Given the description of an element on the screen output the (x, y) to click on. 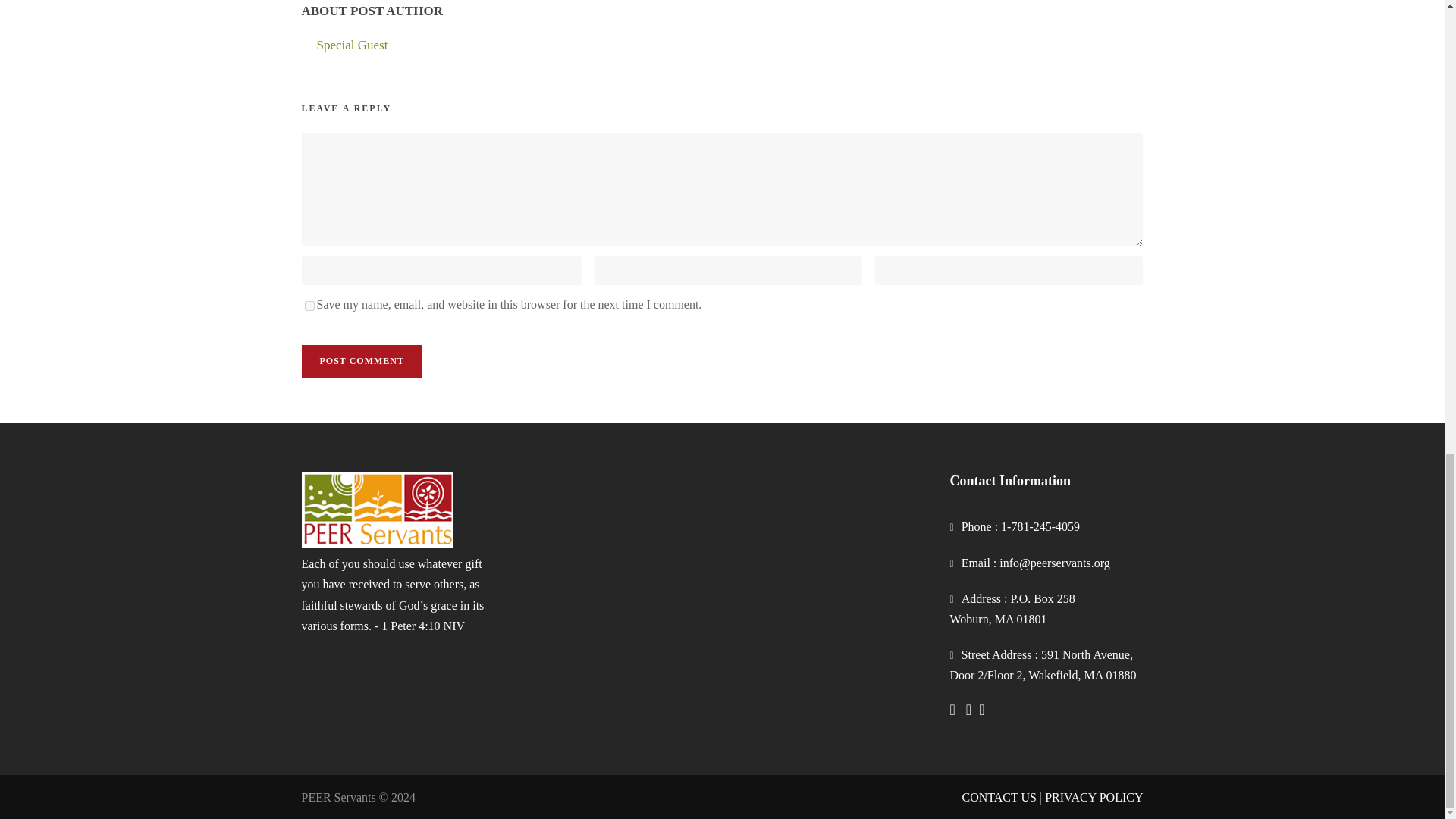
Post Comment (361, 360)
Posts by Special Guest (352, 44)
yes (309, 306)
